Given the description of an element on the screen output the (x, y) to click on. 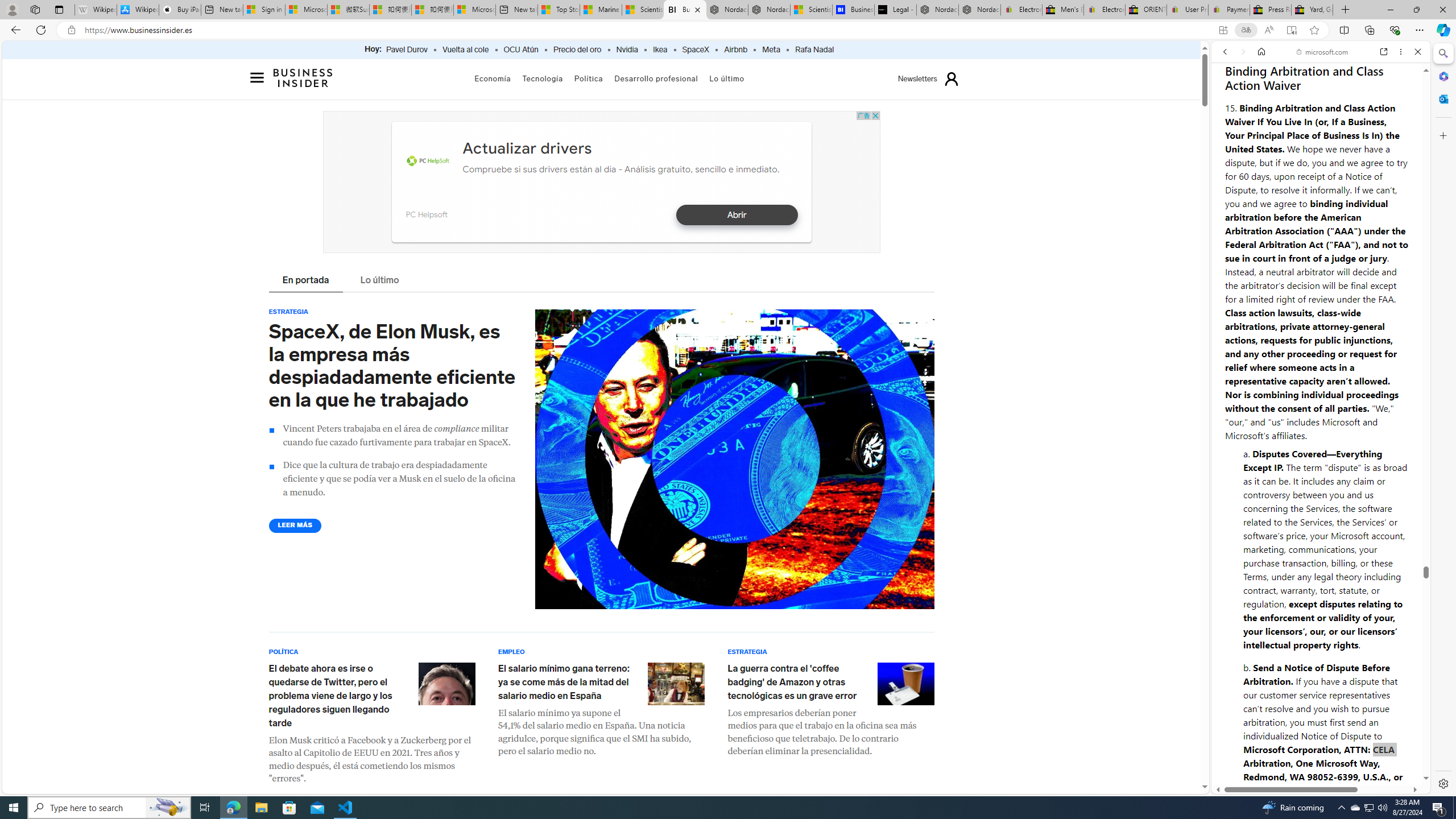
Outlook (1442, 98)
Desarrollo profesional (656, 78)
Show translate options (1245, 29)
Buy iPad - Apple (179, 9)
Forward (1242, 51)
Press Room - eBay Inc. (1269, 9)
Sign in to your Microsoft account (263, 9)
Pavel Durov (406, 49)
